Given the description of an element on the screen output the (x, y) to click on. 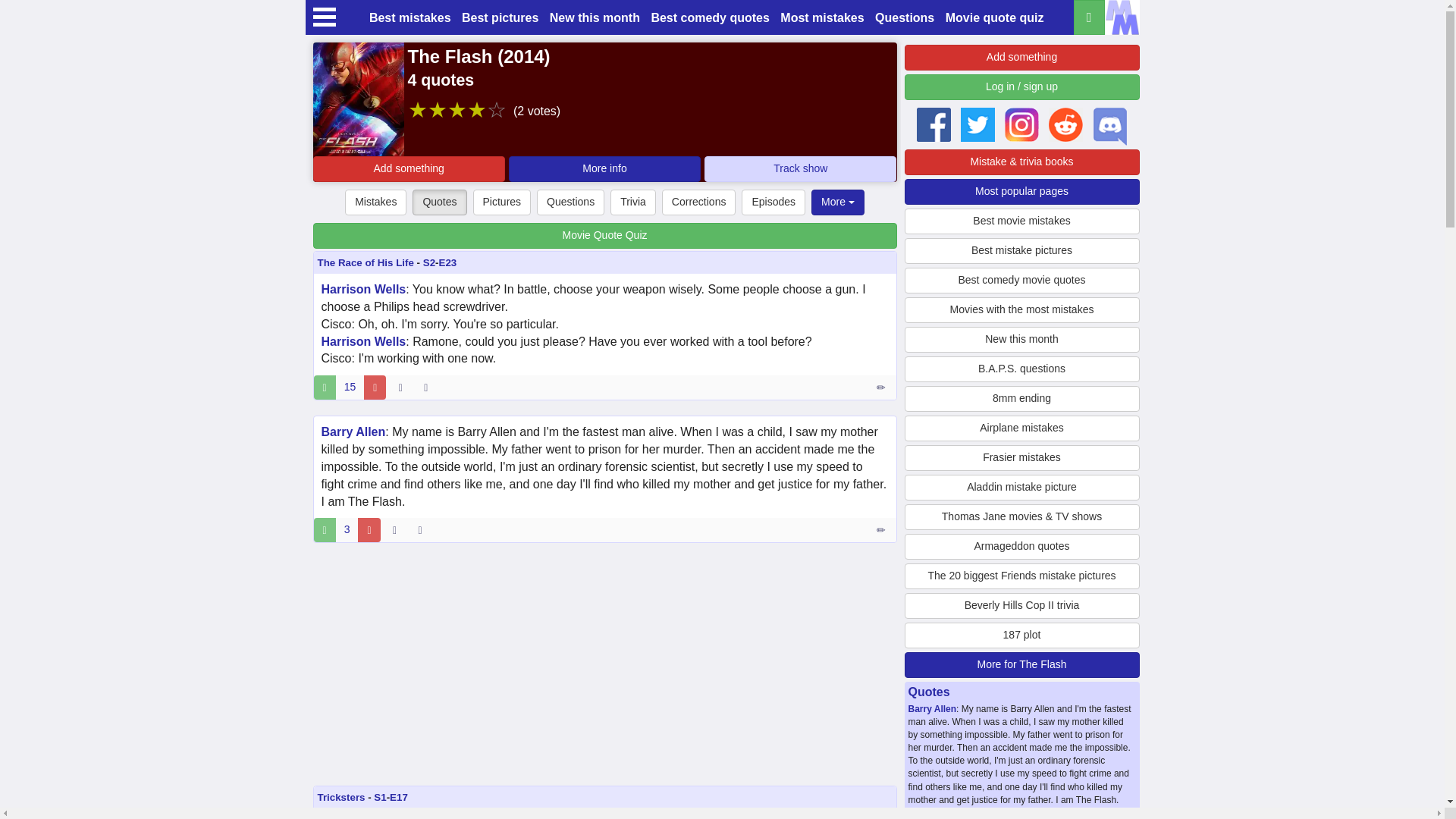
I like this (325, 529)
I like this (325, 387)
Share this entry (423, 529)
I dislike this (374, 387)
Entry 235961 (881, 387)
The Flash on next-episode.net (800, 168)
Advertisement (604, 663)
Entry 234113 (881, 529)
Share this entry (429, 387)
I dislike this (369, 529)
